Given the description of an element on the screen output the (x, y) to click on. 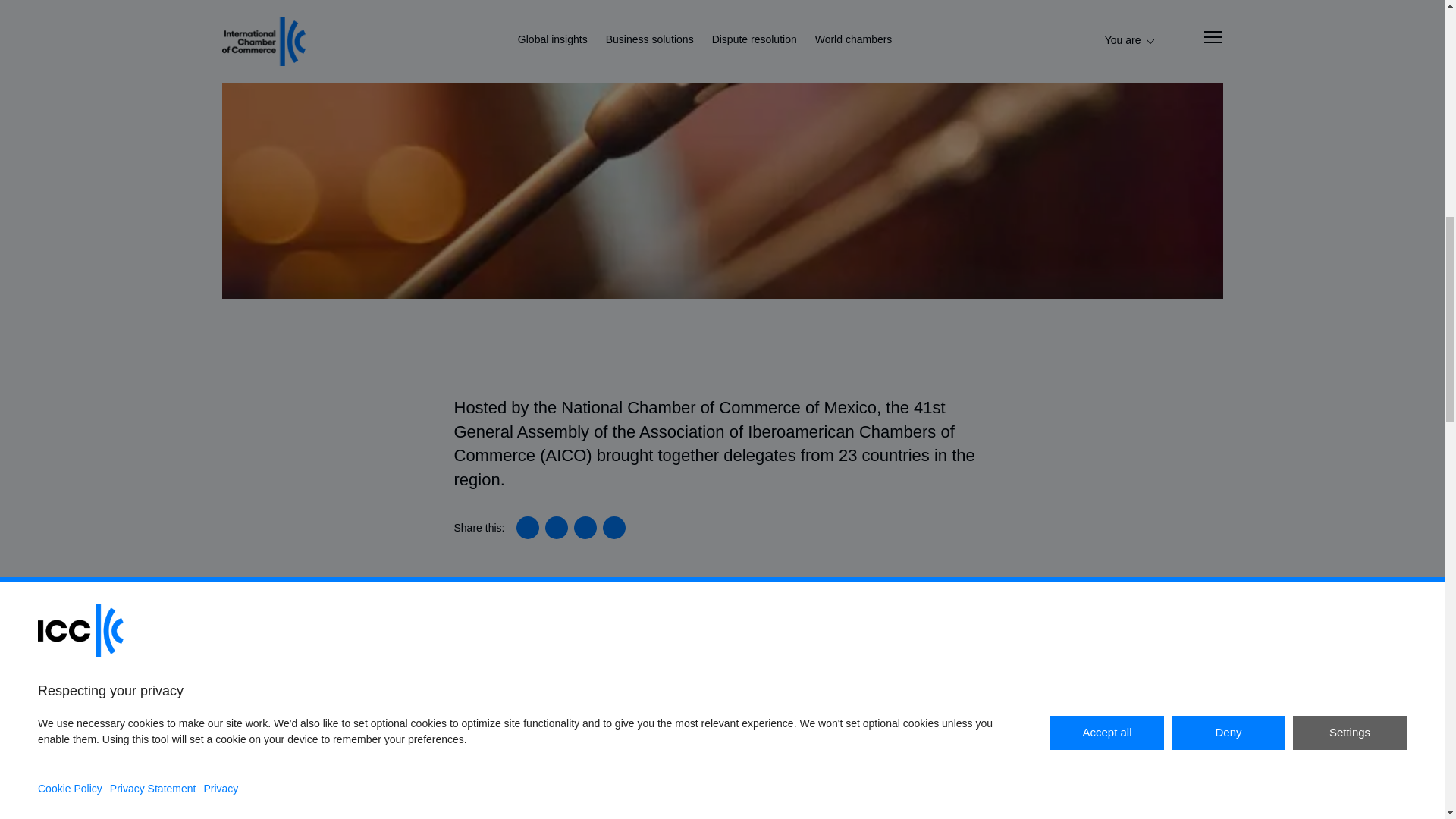
Share on Facebook (584, 527)
Share on Linkedin (527, 527)
Share on X (555, 527)
Share this article with your email software (614, 527)
